Given the description of an element on the screen output the (x, y) to click on. 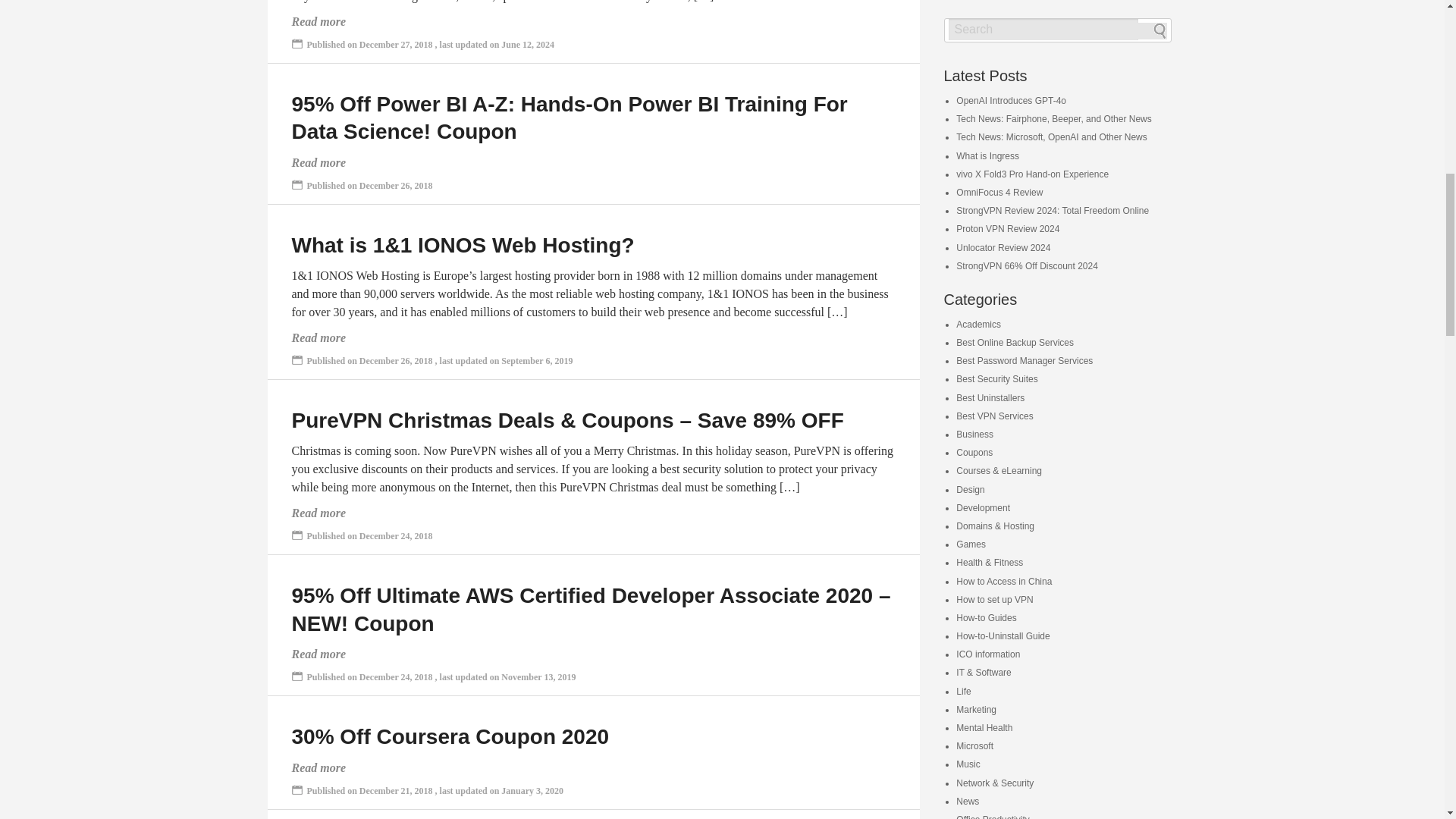
OpenAI Introduces GPT-4o (1010, 100)
Unlocator Review 2024 (1002, 247)
Read more (318, 653)
Read more (318, 162)
OmniFocus 4 Review (999, 192)
Read more (318, 337)
What is Ingress (987, 155)
Read more (318, 767)
Proton VPN Review 2024 (1007, 228)
Tech News: Microsoft, OpenAI and Other News (1051, 136)
